Given the description of an element on the screen output the (x, y) to click on. 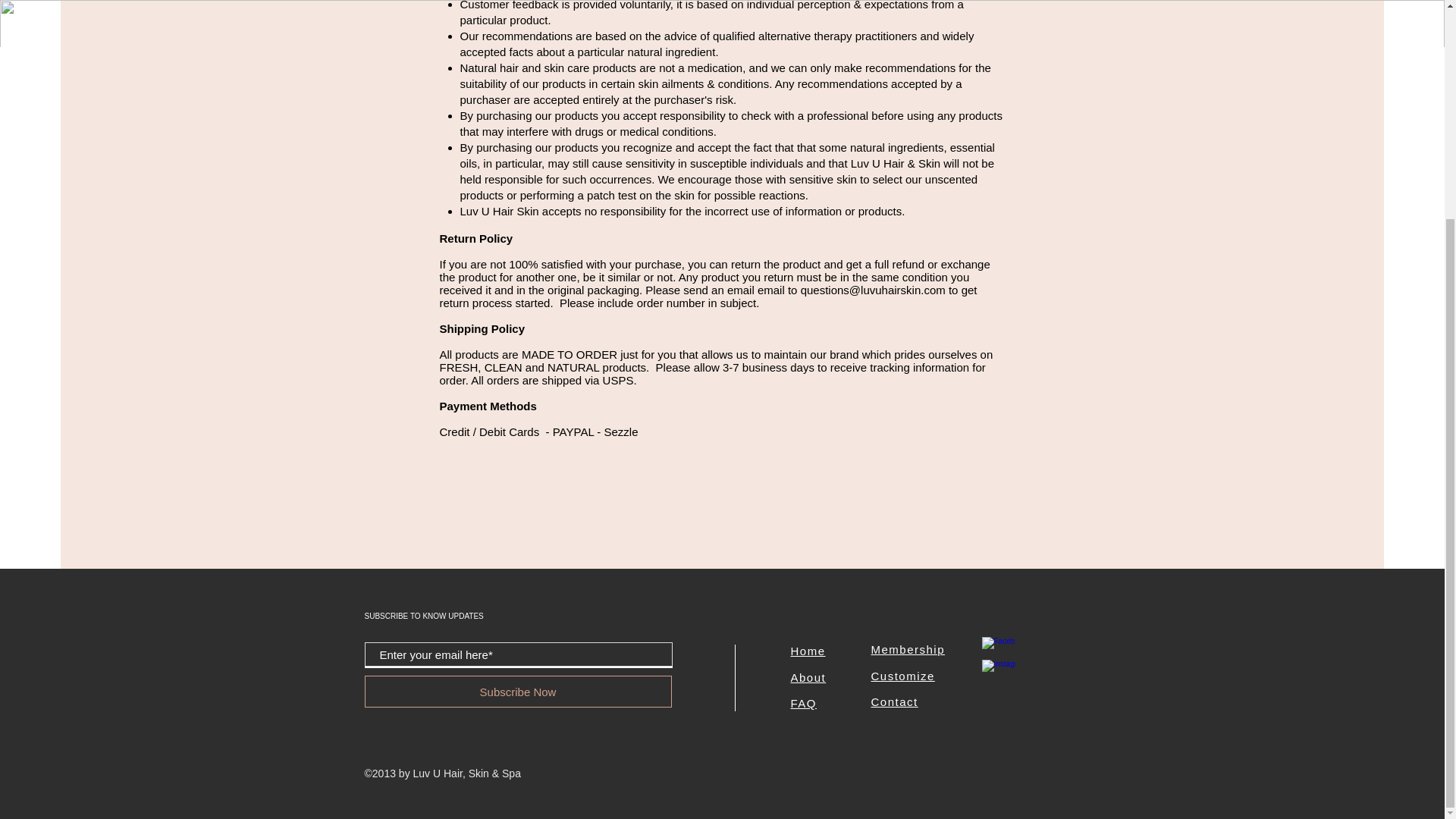
Subscribe Now (517, 691)
Contact (893, 701)
Customize (902, 675)
Membership (907, 649)
Home (807, 650)
About (807, 676)
FAQ (803, 703)
